Given the description of an element on the screen output the (x, y) to click on. 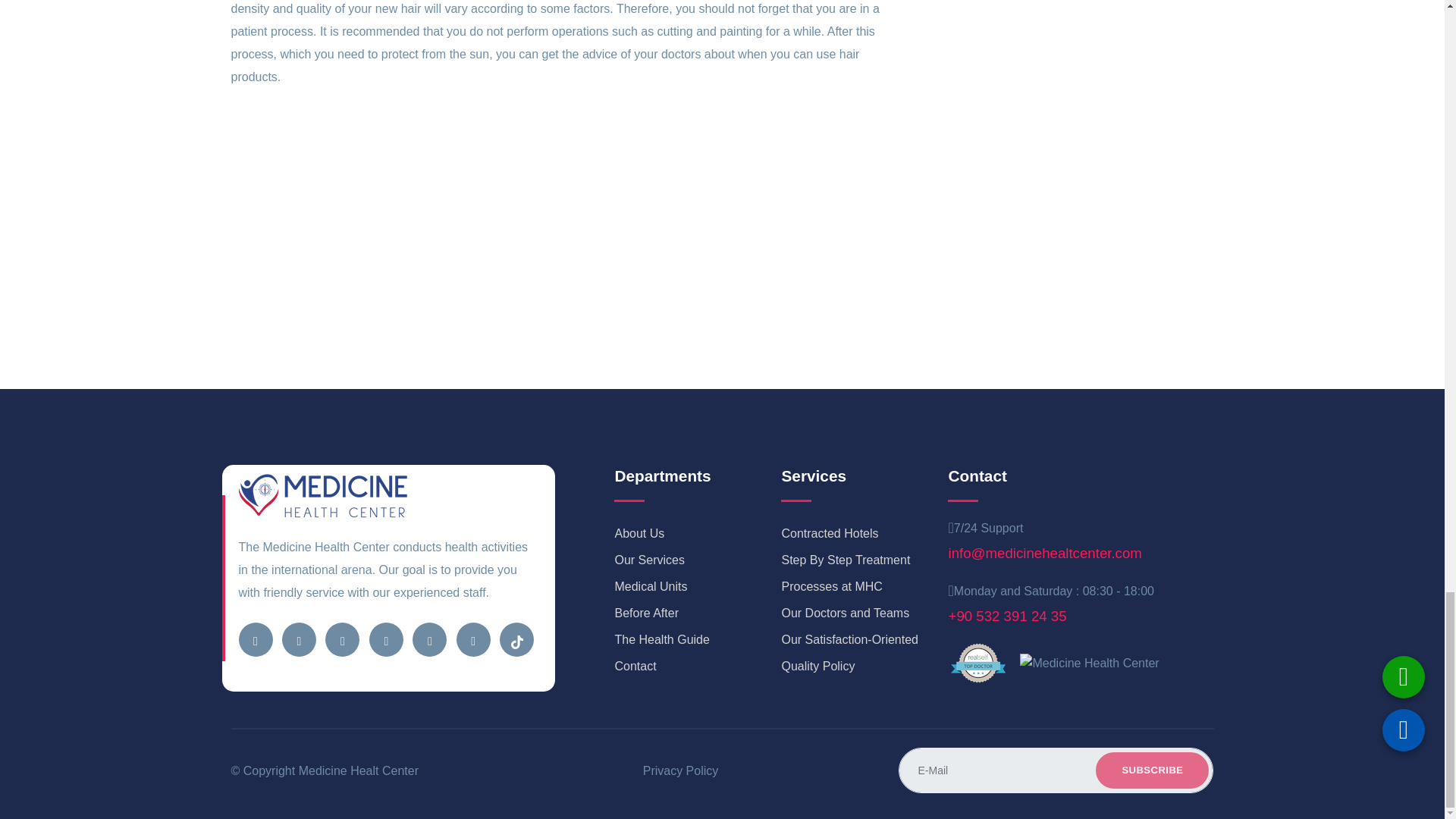
Subscribe (1152, 770)
